Given the description of an element on the screen output the (x, y) to click on. 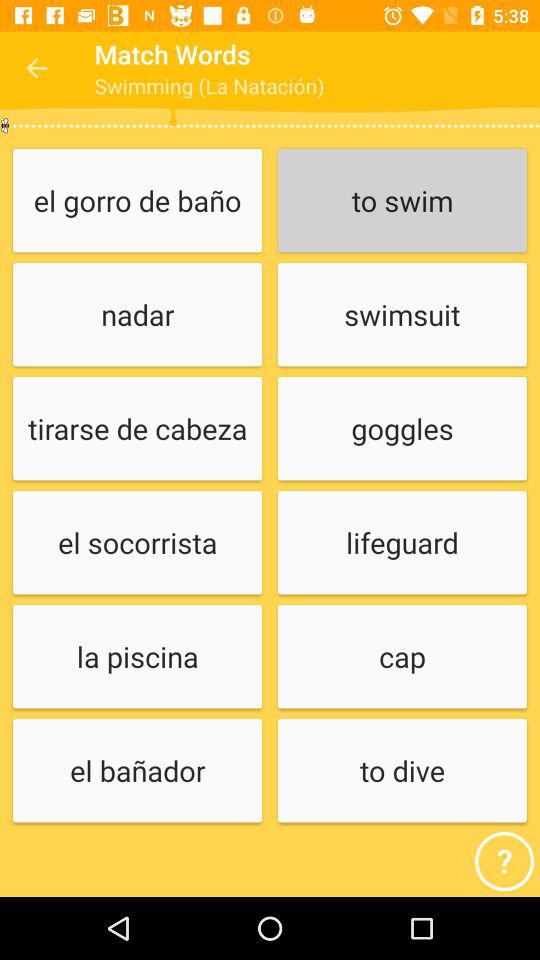
click lifeguard (402, 543)
